Given the description of an element on the screen output the (x, y) to click on. 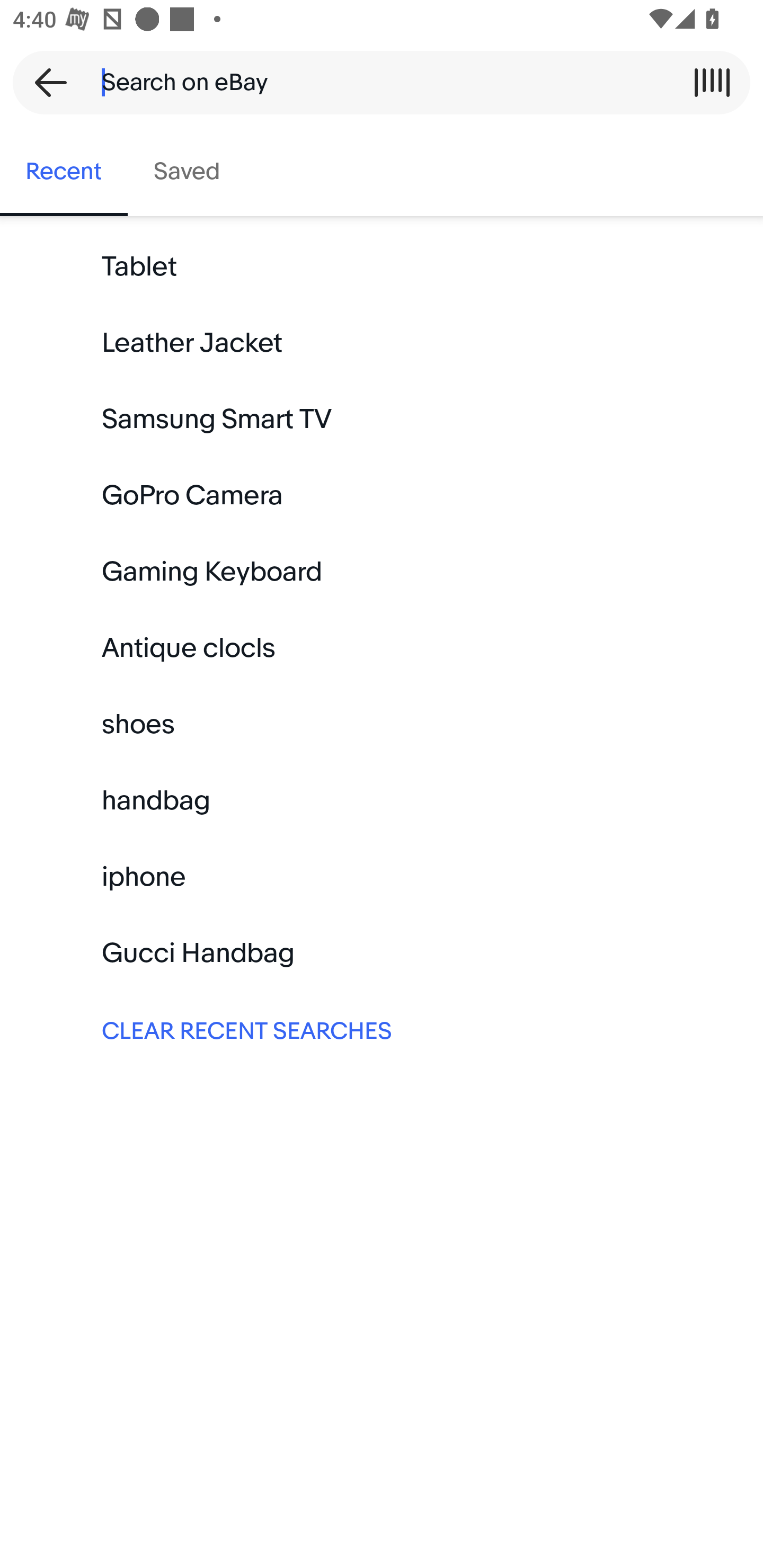
Back (44, 82)
Scan a barcode (711, 82)
Search on eBay (375, 82)
Saved, tab 2 of 2 Saved (186, 171)
Tablet Keyword search Tablet: (381, 266)
Leather Jacket Keyword search Leather Jacket: (381, 343)
Samsung Smart TV Keyword search Samsung Smart TV: (381, 419)
GoPro Camera Keyword search GoPro Camera: (381, 495)
Gaming Keyboard Keyword search Gaming Keyboard: (381, 571)
Antique clocls Keyword search Antique clocls: (381, 647)
shoes Keyword search shoes: (381, 724)
handbag Keyword search handbag: (381, 800)
iphone Keyword search iphone: (381, 876)
Gucci Handbag Keyword search Gucci Handbag: (381, 952)
CLEAR RECENT SEARCHES (381, 1028)
